Given the description of an element on the screen output the (x, y) to click on. 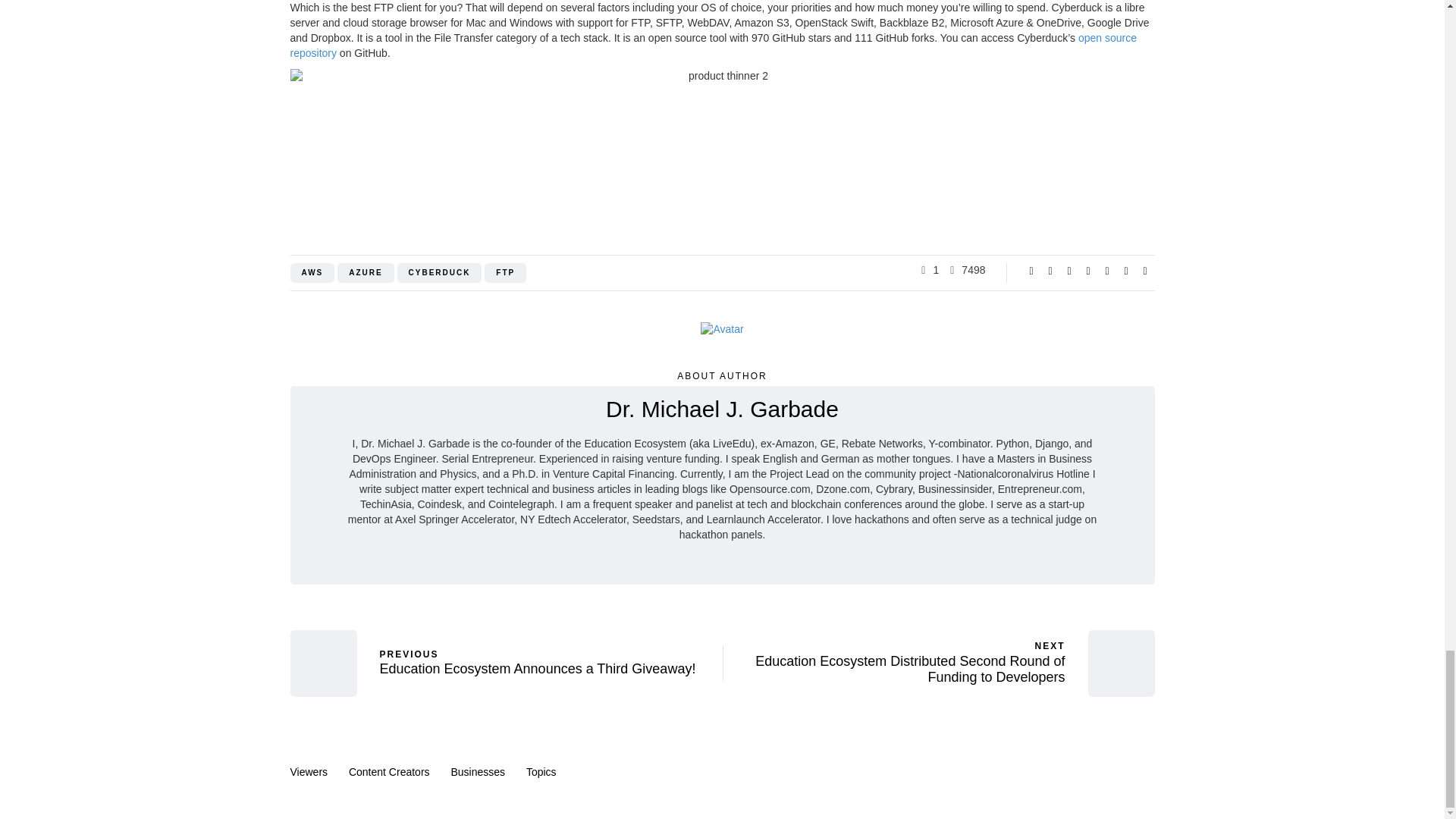
Share with Facebook (1031, 270)
Share with LinkedIn (1087, 270)
Share with VKontakte (1125, 270)
Posts by Dr. Michael J. Garbade (721, 408)
Pin this (1106, 270)
Share by Email (1144, 270)
Tweet this (1050, 270)
Share with Google Plus (1068, 270)
